Given the description of an element on the screen output the (x, y) to click on. 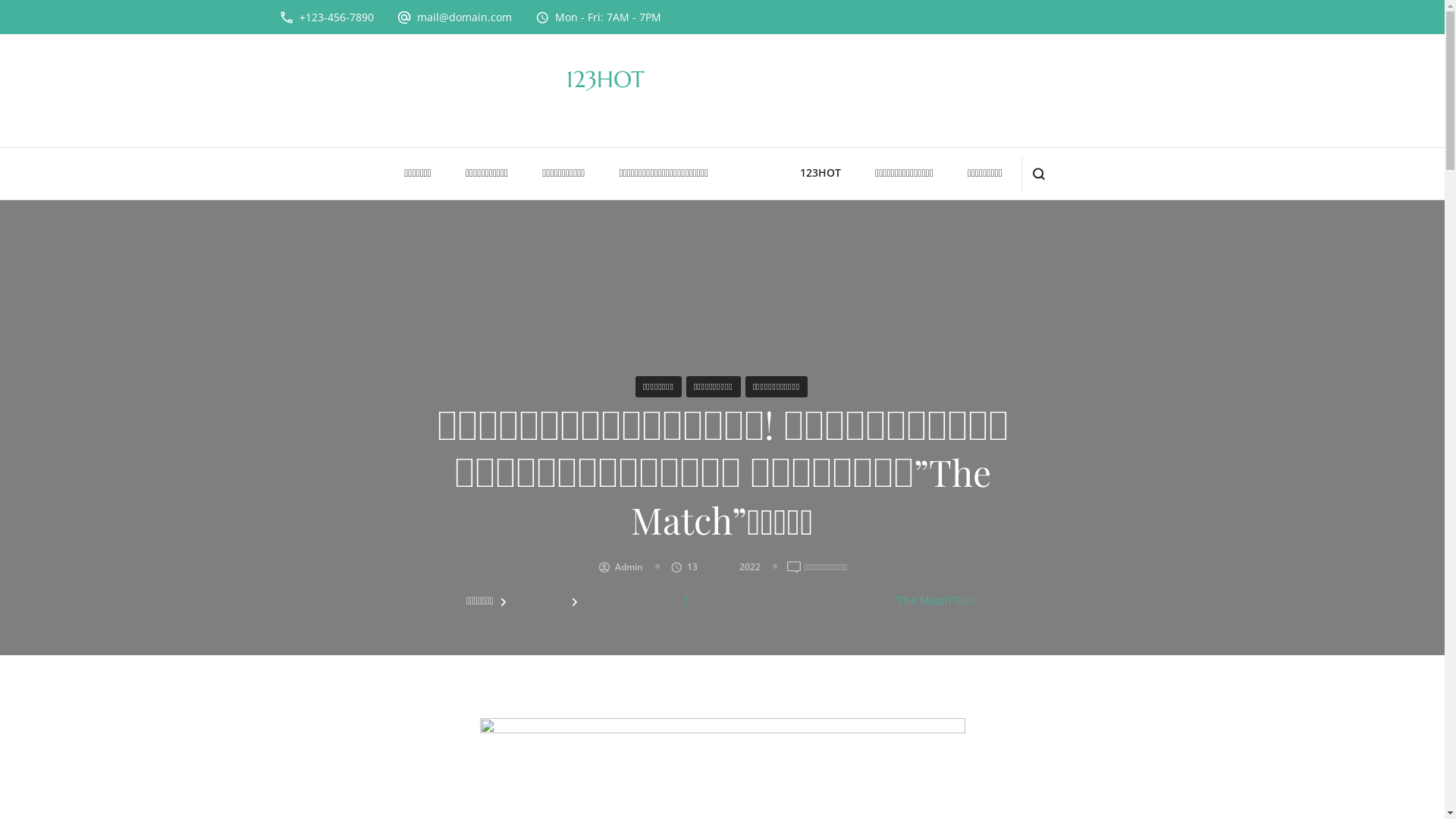
+123-456-7890 Element type: text (335, 16)
mail@domain.com Element type: text (464, 16)
Admin Element type: text (629, 566)
